Given the description of an element on the screen output the (x, y) to click on. 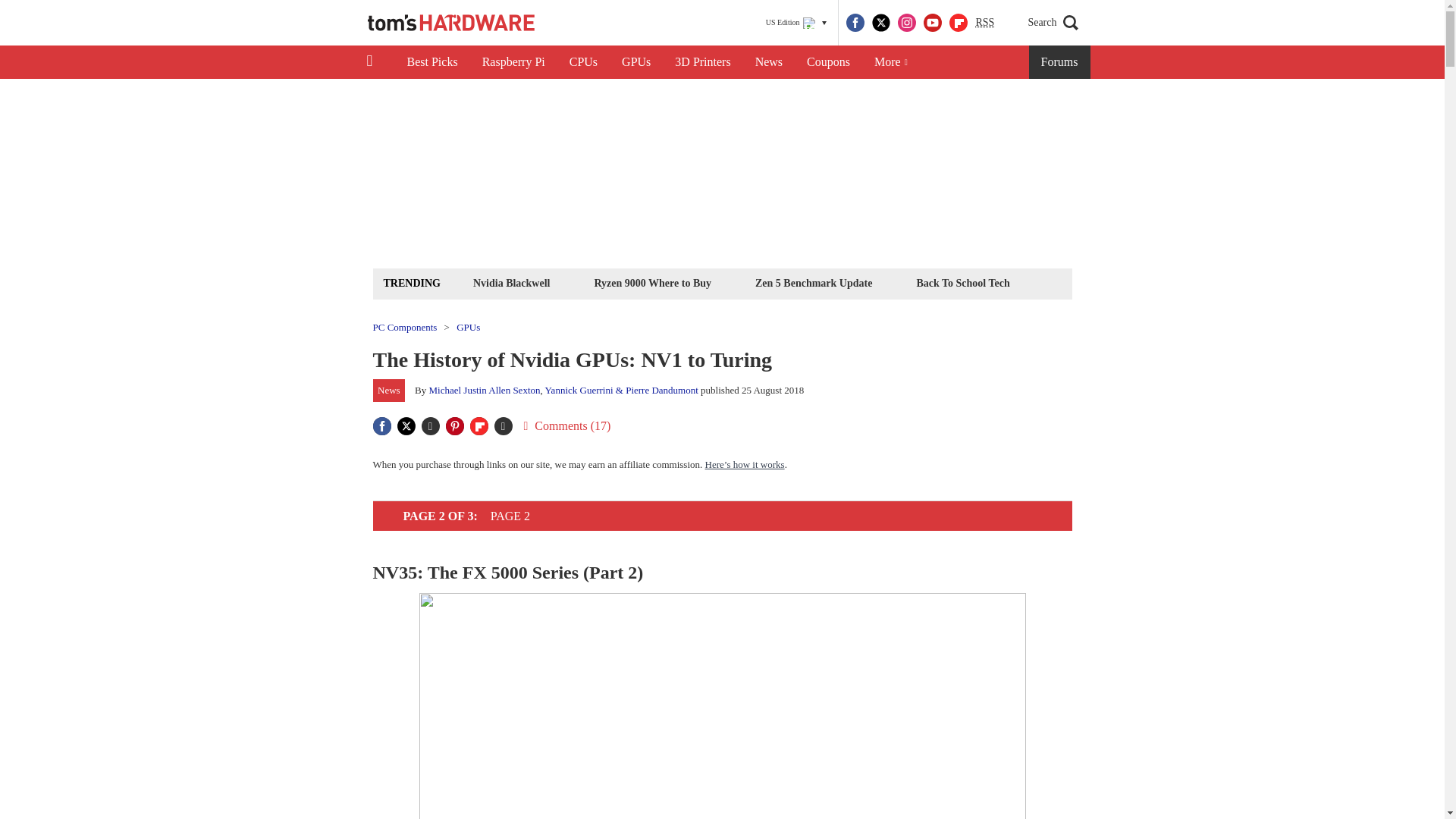
RSS (984, 22)
Best Picks (431, 61)
Raspberry Pi (513, 61)
3D Printers (702, 61)
US Edition (796, 22)
Really Simple Syndication (984, 21)
GPUs (636, 61)
News (768, 61)
CPUs (583, 61)
Coupons (827, 61)
